Given the description of an element on the screen output the (x, y) to click on. 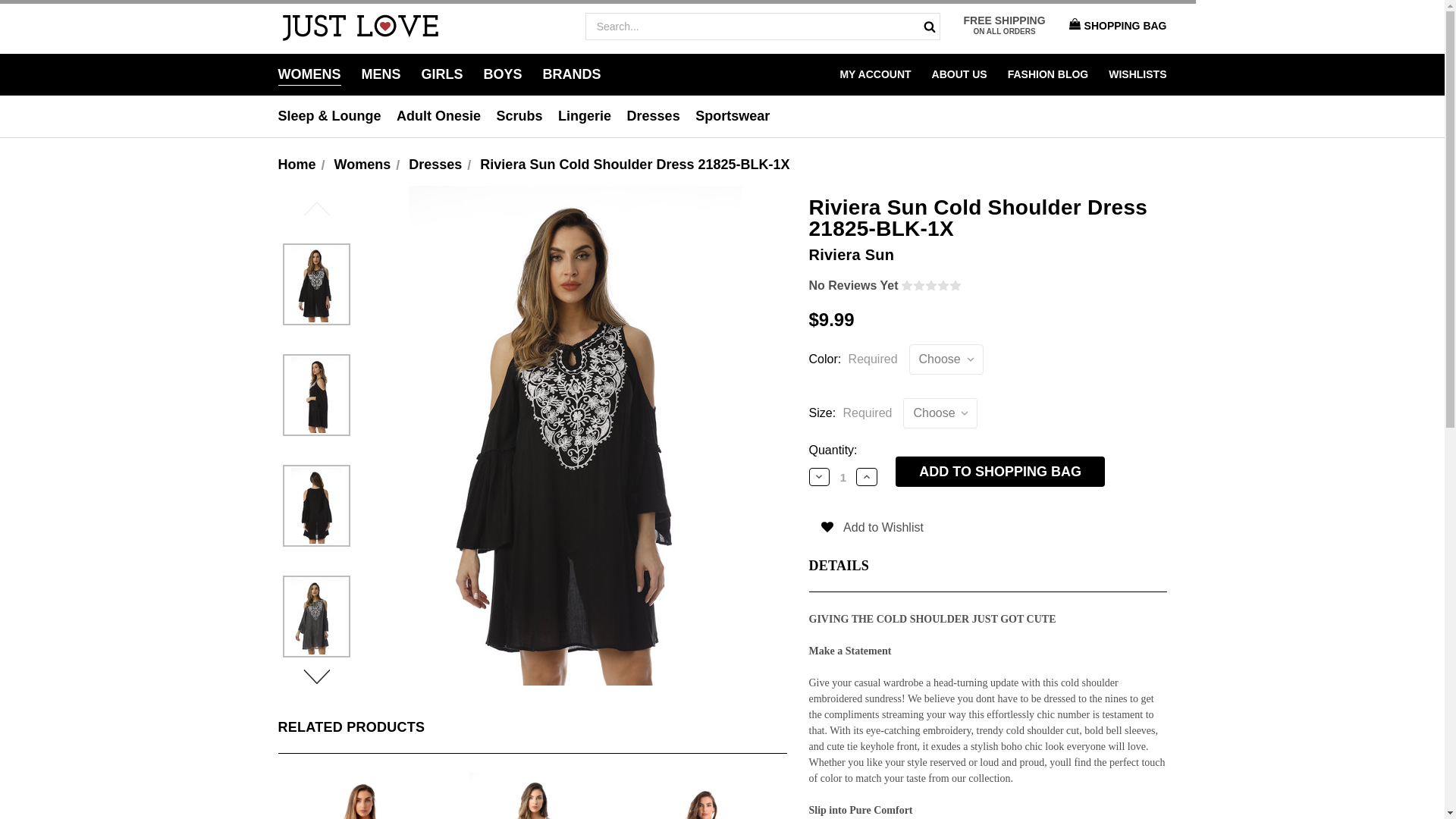
WISHLISTS (1137, 74)
ABOUT US (959, 74)
Home (296, 164)
Dresses (656, 116)
SHOPPING BAG (1114, 26)
Riviera Sun Cold Shoulder Dress 21825-BLK-1X (634, 164)
Lingerie (586, 116)
BOYS (502, 74)
Womens (362, 164)
